Given the description of an element on the screen output the (x, y) to click on. 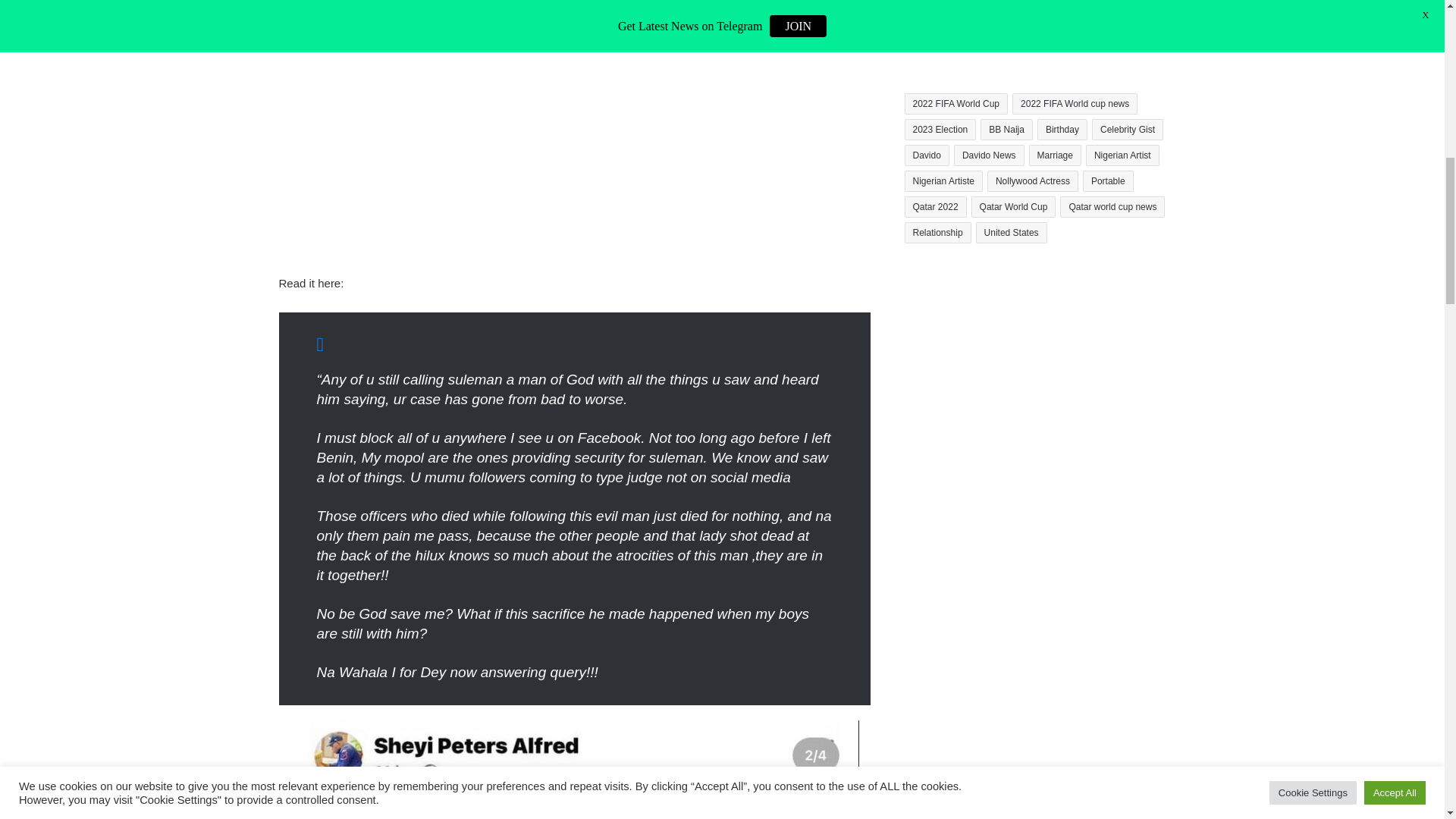
Advertisement (574, 161)
